Given the description of an element on the screen output the (x, y) to click on. 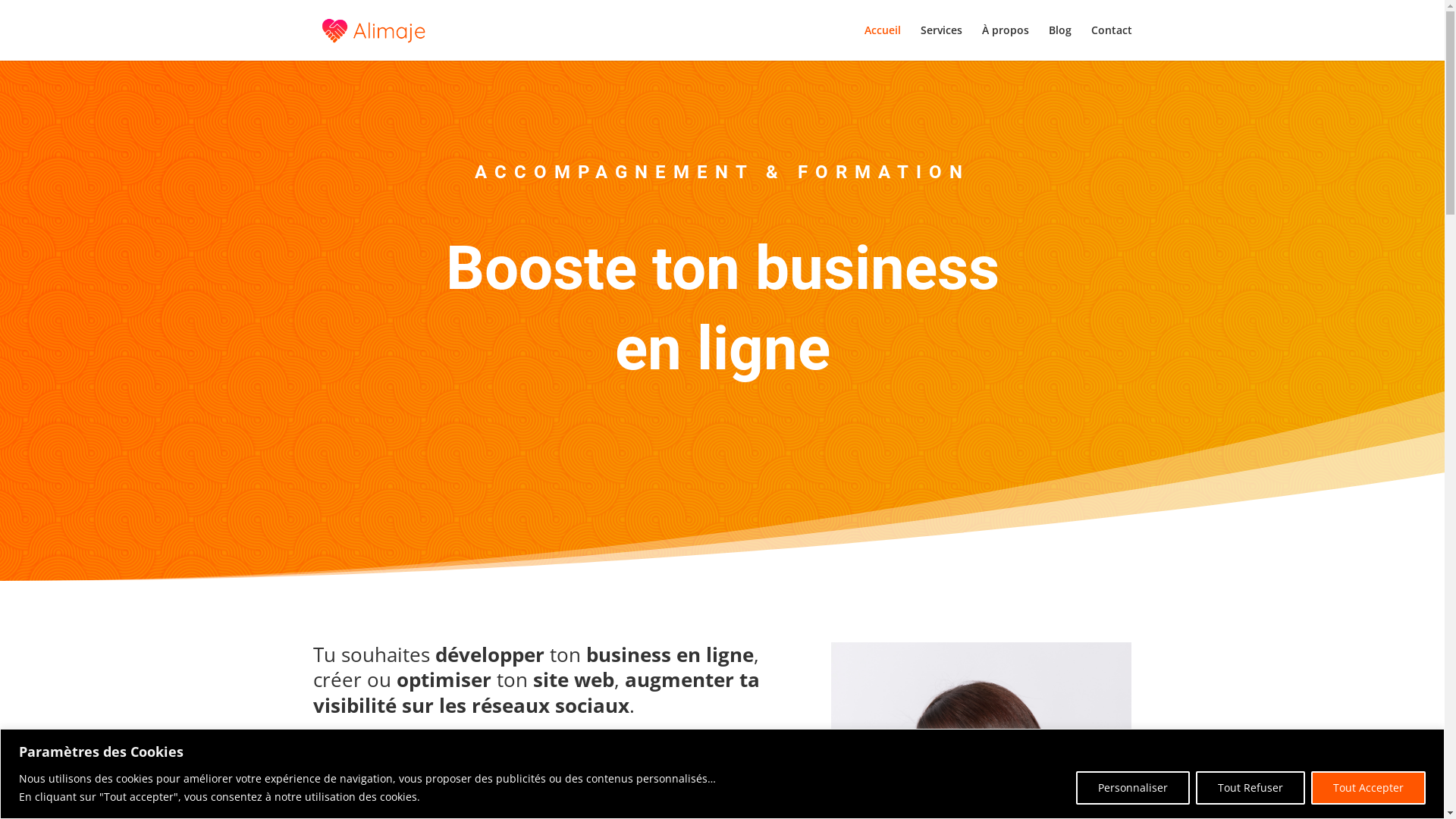
Personnaliser Element type: text (1132, 786)
Tout Refuser Element type: text (1250, 786)
Services Element type: text (941, 42)
Tout Accepter Element type: text (1368, 786)
Accueil Element type: text (882, 42)
Contact Element type: text (1110, 42)
Blog Element type: text (1059, 42)
